Given the description of an element on the screen output the (x, y) to click on. 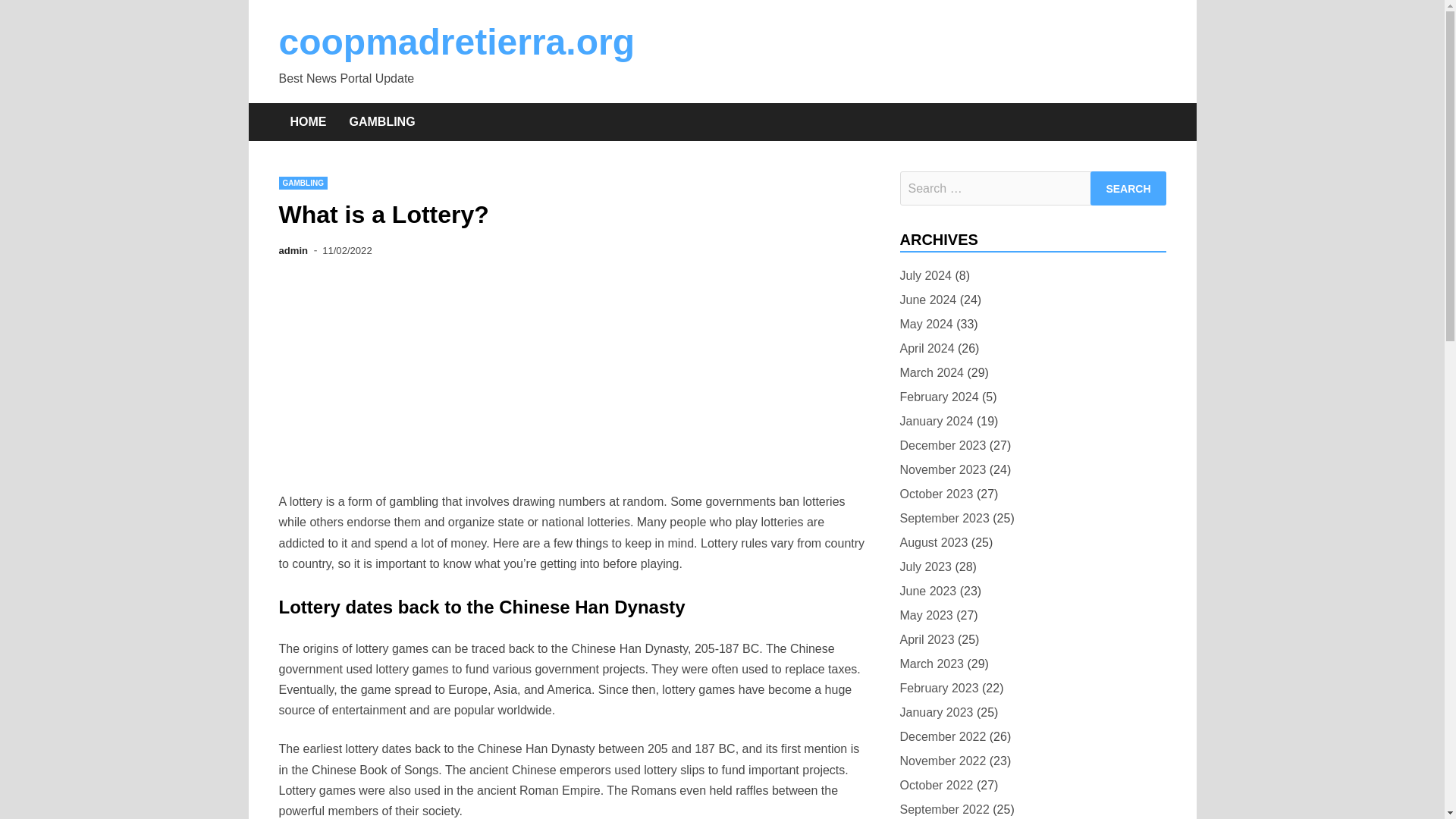
Search (1128, 188)
May 2024 (925, 323)
May 2023 (925, 615)
November 2022 (942, 761)
August 2023 (933, 542)
January 2023 (935, 711)
April 2024 (926, 348)
November 2023 (942, 469)
February 2023 (938, 688)
September 2022 (943, 809)
Search (1128, 188)
GAMBLING (303, 182)
July 2024 (925, 275)
September 2023 (943, 517)
coopmadretierra.org (456, 42)
